Given the description of an element on the screen output the (x, y) to click on. 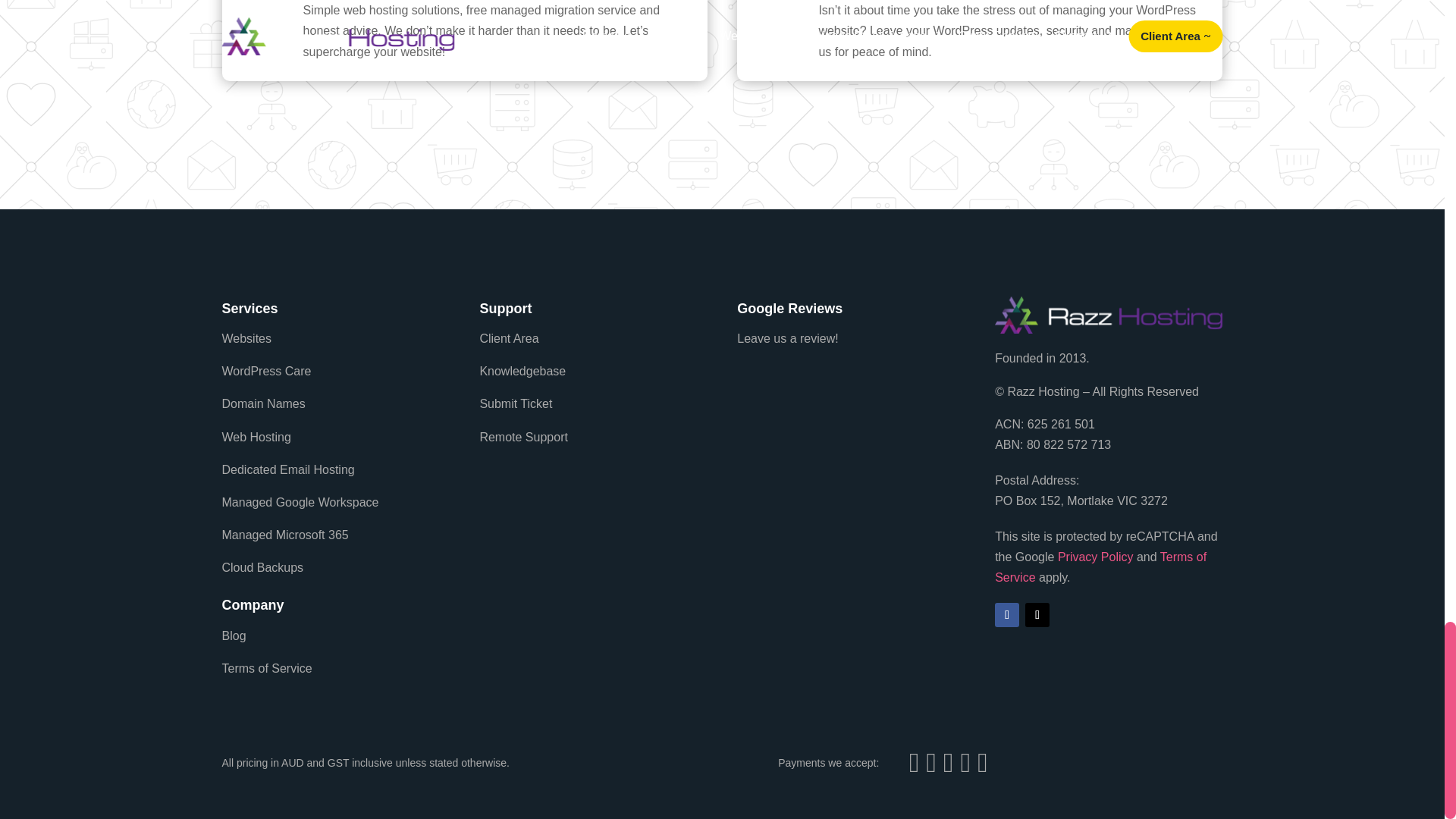
Websites (245, 338)
WordPress Care (266, 370)
Client Area (508, 338)
Managed Microsoft 365 (284, 534)
Latest News (233, 635)
Latest News (266, 667)
Dedicated Email Hosting (287, 469)
Web Hosting (255, 436)
Managed Google Workspace (299, 502)
Cloud Backups (261, 567)
Domain Names (262, 403)
